Given the description of an element on the screen output the (x, y) to click on. 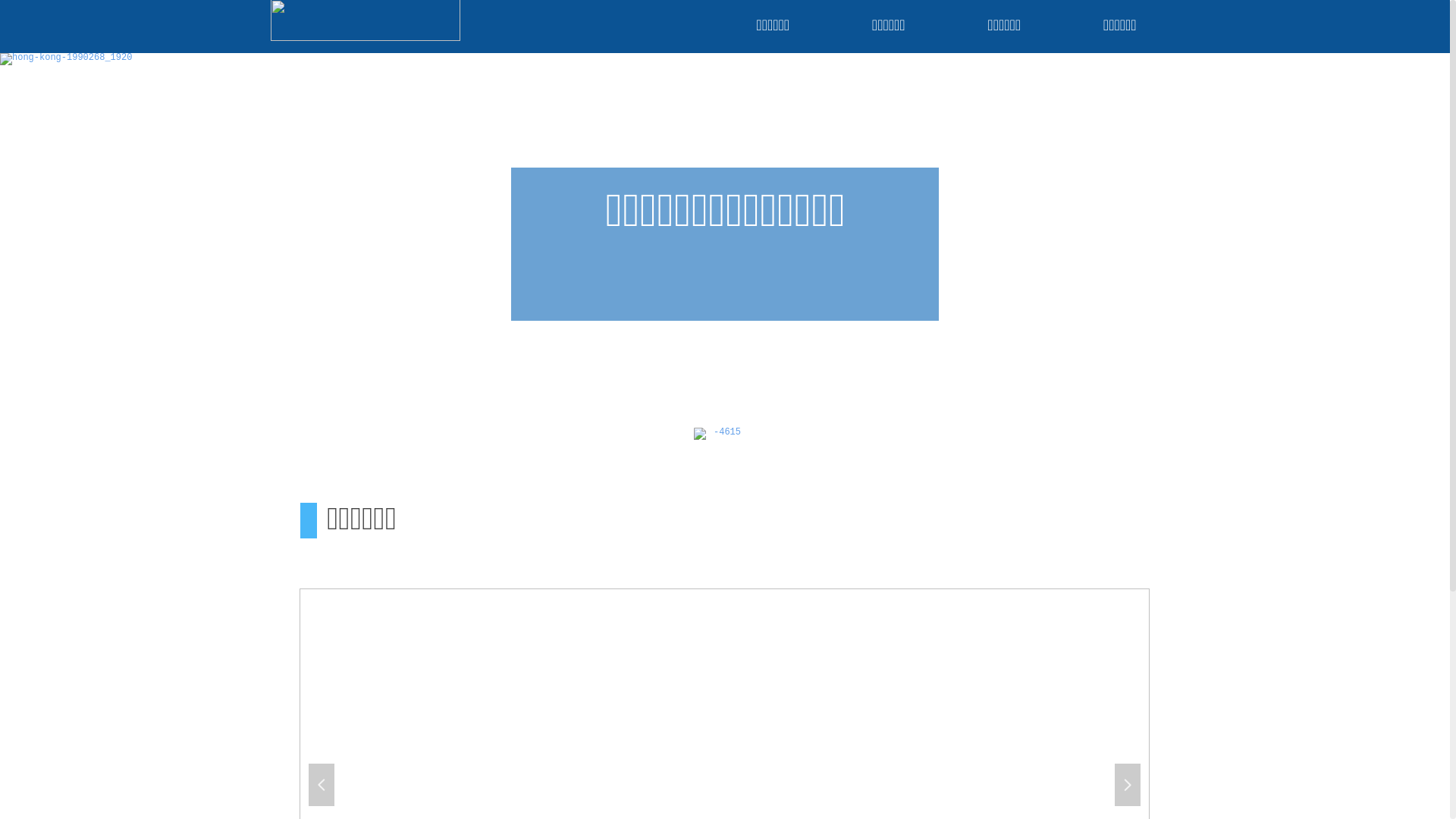
hong-kong-1990268_1920 Element type: hover (724, 59)
-4615 Element type: hover (720, 453)
